Given the description of an element on the screen output the (x, y) to click on. 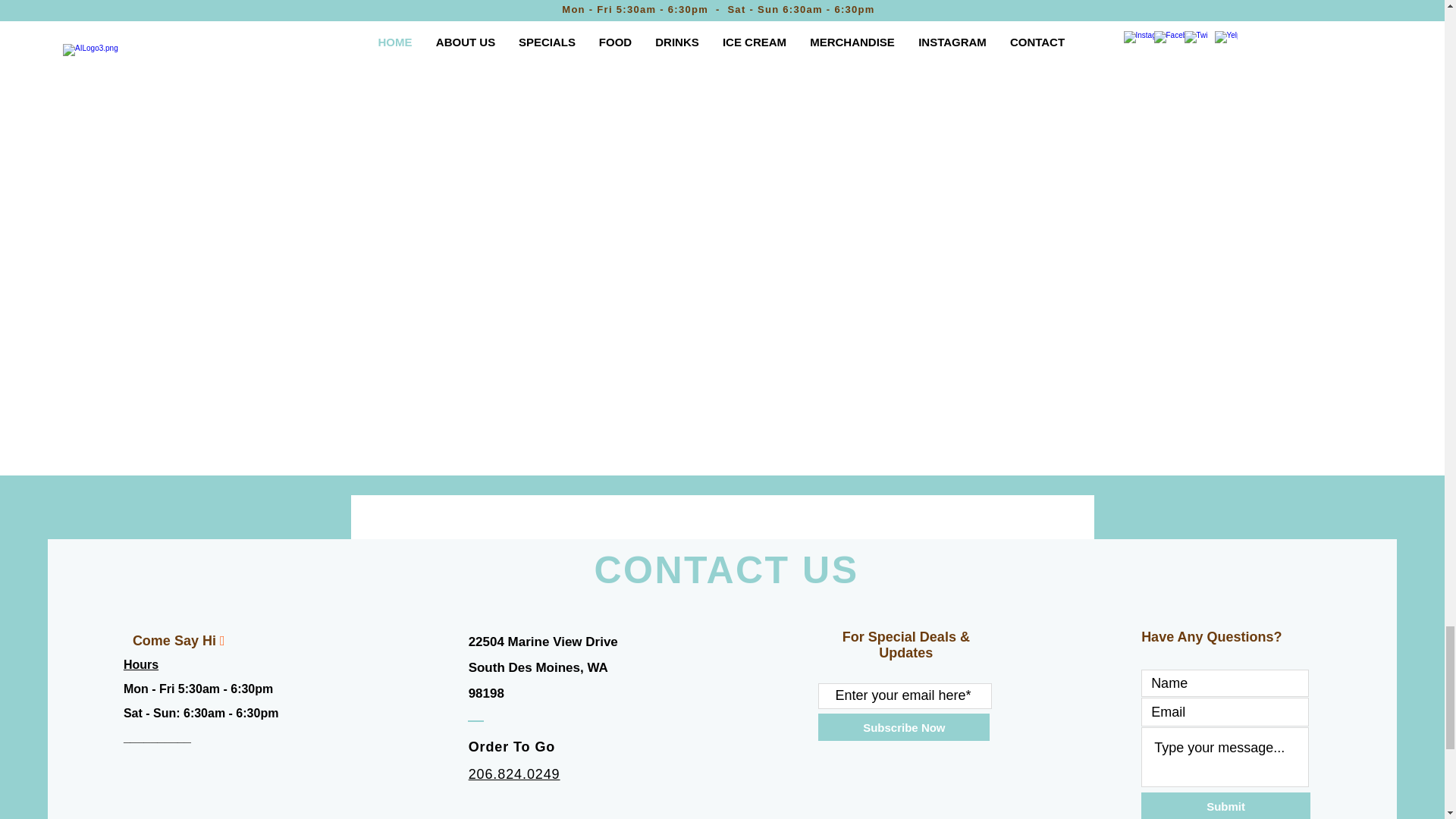
206.824.0249 (514, 774)
Subscribe Now (904, 727)
Submit (1225, 805)
